Given the description of an element on the screen output the (x, y) to click on. 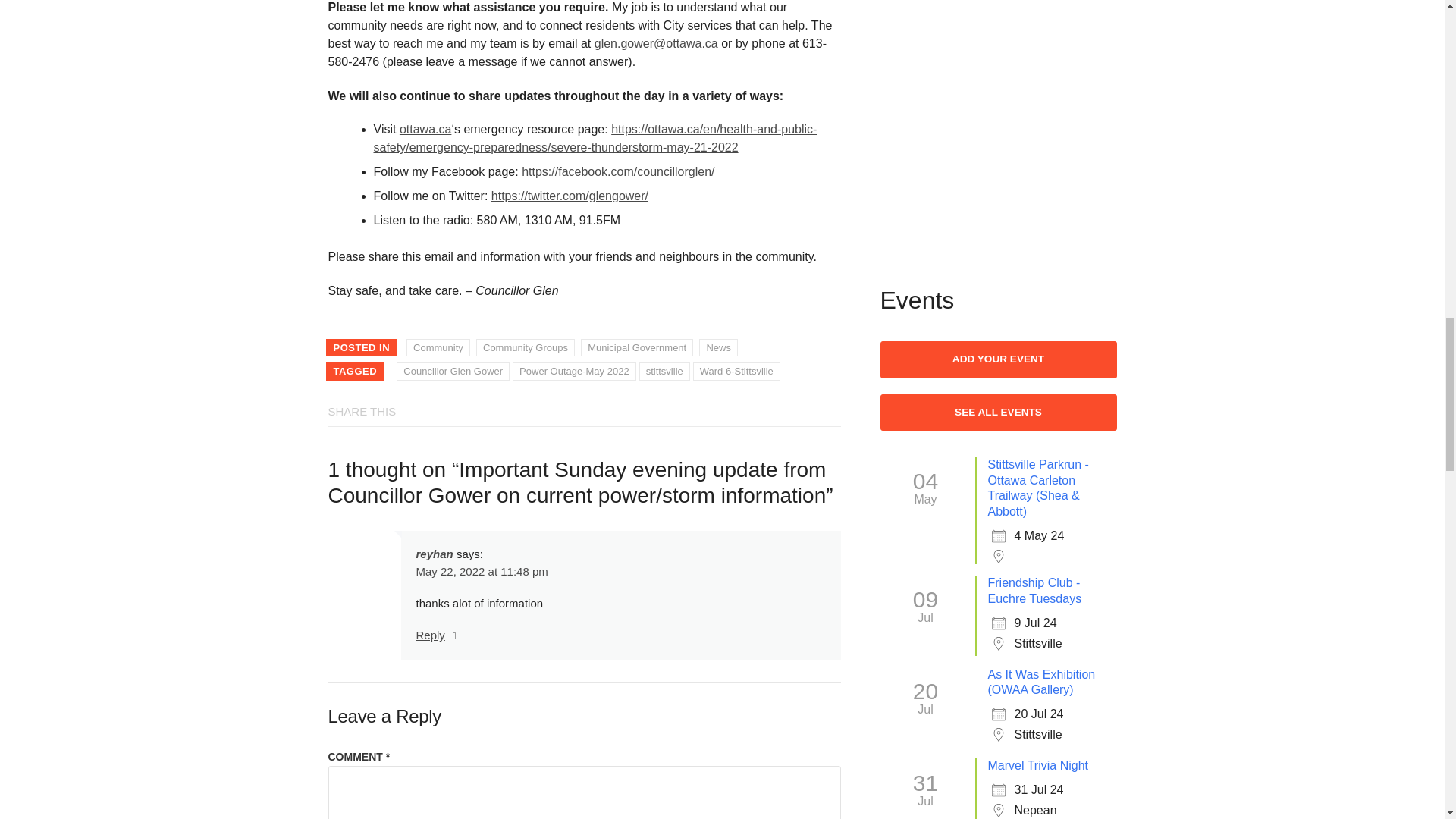
stittsville (664, 371)
Community Groups (525, 348)
Municipal Government (636, 348)
Councillor Glen Gower (452, 371)
Community (438, 348)
ottawa.ca (424, 128)
Power Outage-May 2022 (574, 371)
News (718, 348)
